Given the description of an element on the screen output the (x, y) to click on. 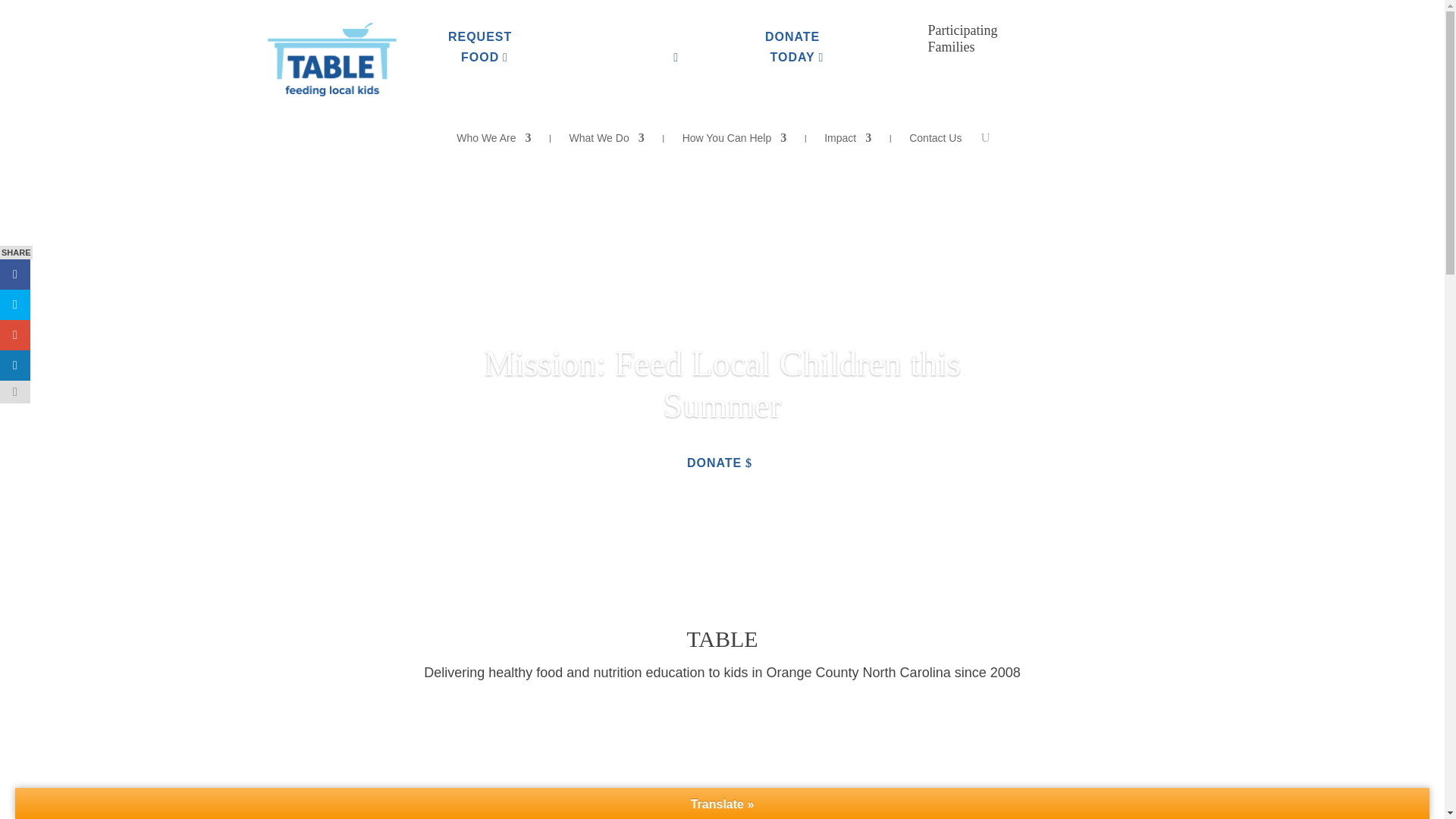
Who We Are (494, 140)
GET INVOLVED (643, 46)
Who We Are (521, 178)
What We Do (607, 140)
DONATE TODAY (799, 46)
What We Do (627, 178)
REQUEST FOOD (487, 46)
How You Can Help (734, 140)
Contact Us (934, 140)
Impact (847, 140)
